Given the description of an element on the screen output the (x, y) to click on. 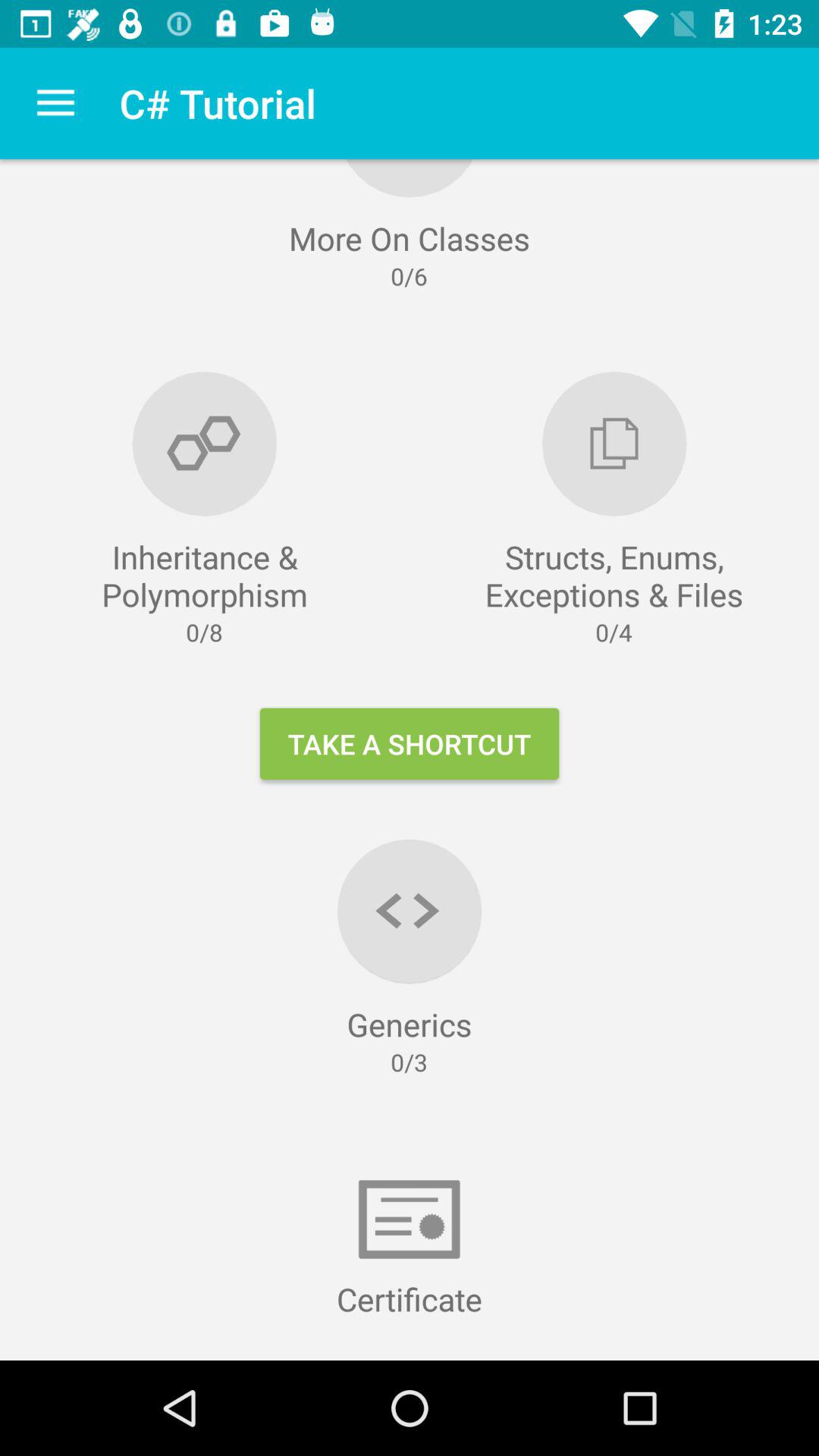
turn on icon to the left of the c# tutorial (55, 103)
